Given the description of an element on the screen output the (x, y) to click on. 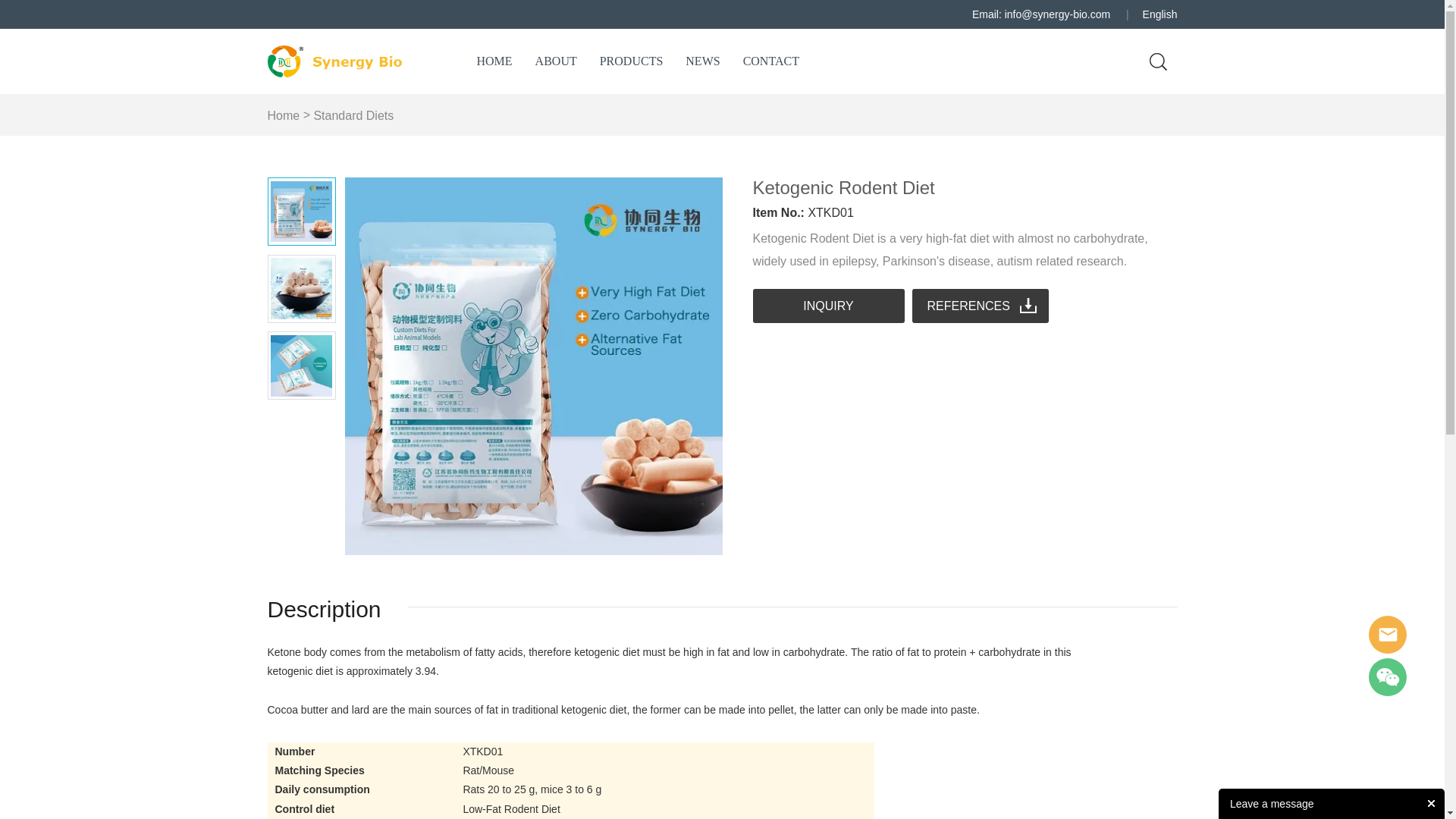
Home (282, 115)
INQUIRY (828, 305)
Products (631, 61)
Nutritionist (1387, 634)
PRODUCTS (631, 61)
Standard Diets (353, 115)
